Given the description of an element on the screen output the (x, y) to click on. 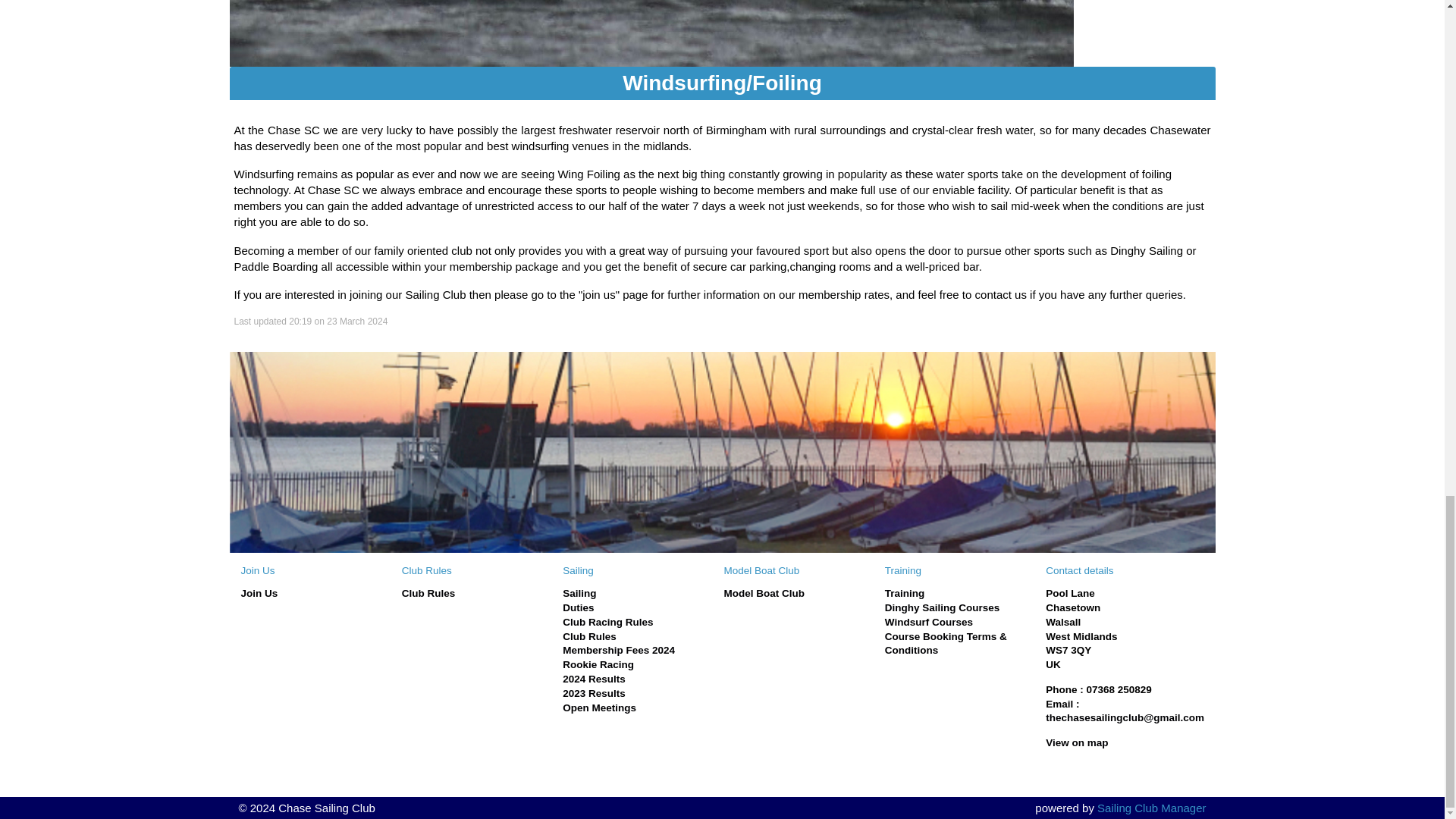
Membership Fees 2024 (618, 650)
Join Us (259, 593)
Open Meetings (599, 707)
Windsurf Courses (928, 622)
Model Boat Club (764, 593)
Rookie Racing (597, 664)
Dinghy Sailing Courses (942, 607)
Duties (578, 607)
Club Racing Rules (607, 622)
2024 Results (594, 678)
Training (904, 593)
Sailing (578, 593)
2023 Results (594, 693)
Club Rules (588, 635)
Club Rules (428, 593)
